Given the description of an element on the screen output the (x, y) to click on. 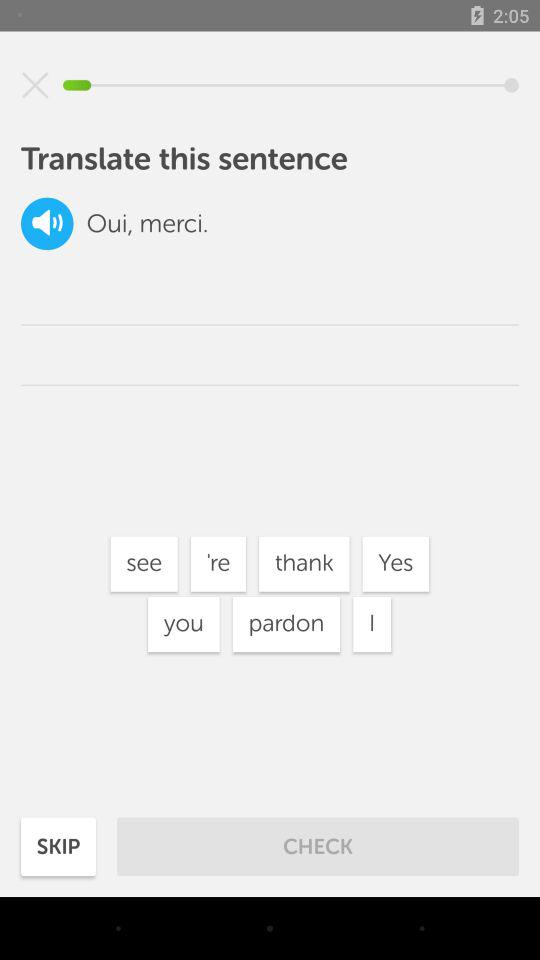
click icon to the left of the i (304, 563)
